Given the description of an element on the screen output the (x, y) to click on. 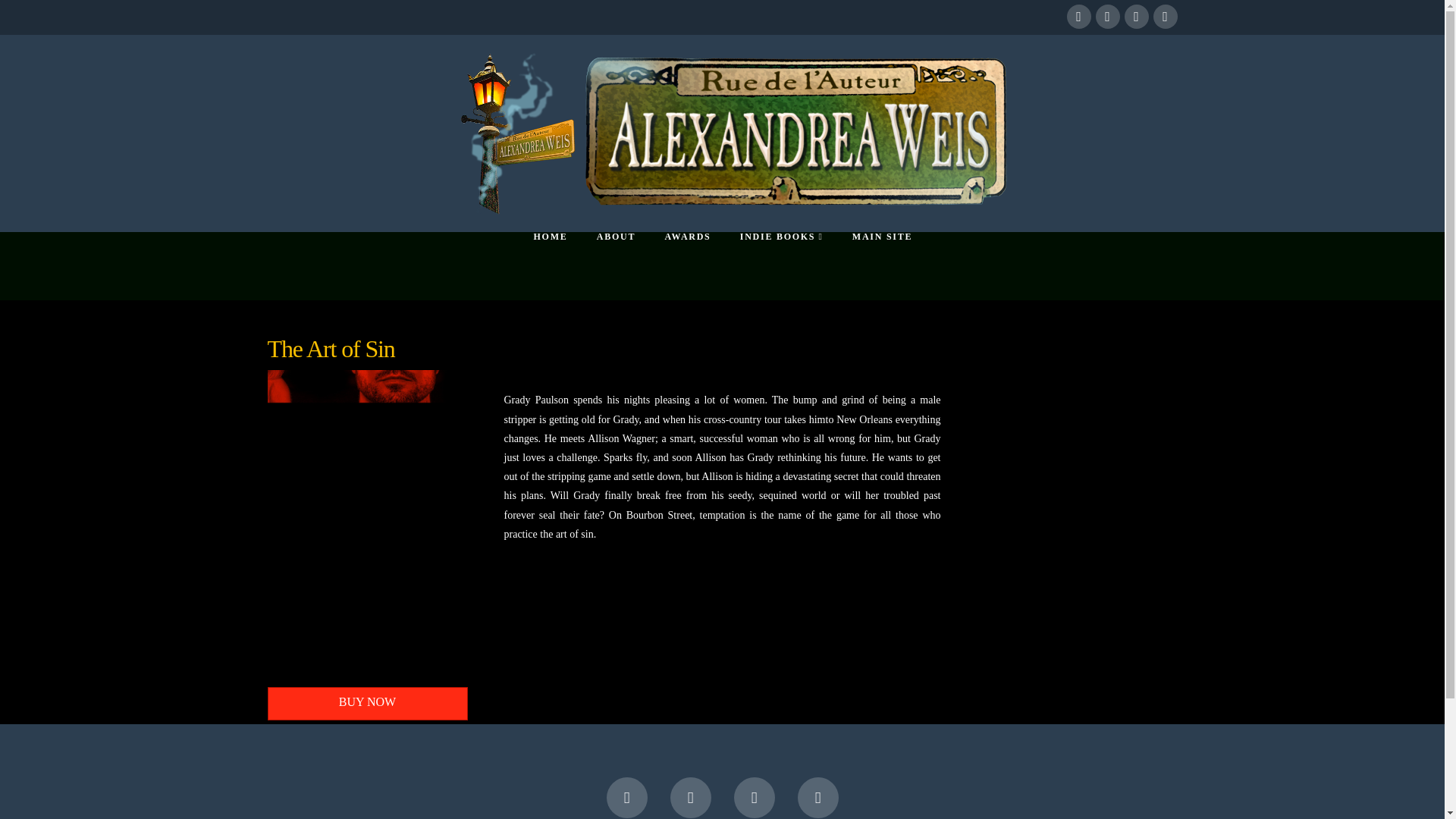
Instagram (817, 797)
LinkedIn (753, 797)
MAIN SITE (881, 265)
ABOUT (614, 265)
Facebook (1077, 16)
HOME (549, 265)
BUY NOW (366, 704)
AWARDS (686, 265)
LinkedIn (1136, 16)
Instagram (1164, 16)
